Given the description of an element on the screen output the (x, y) to click on. 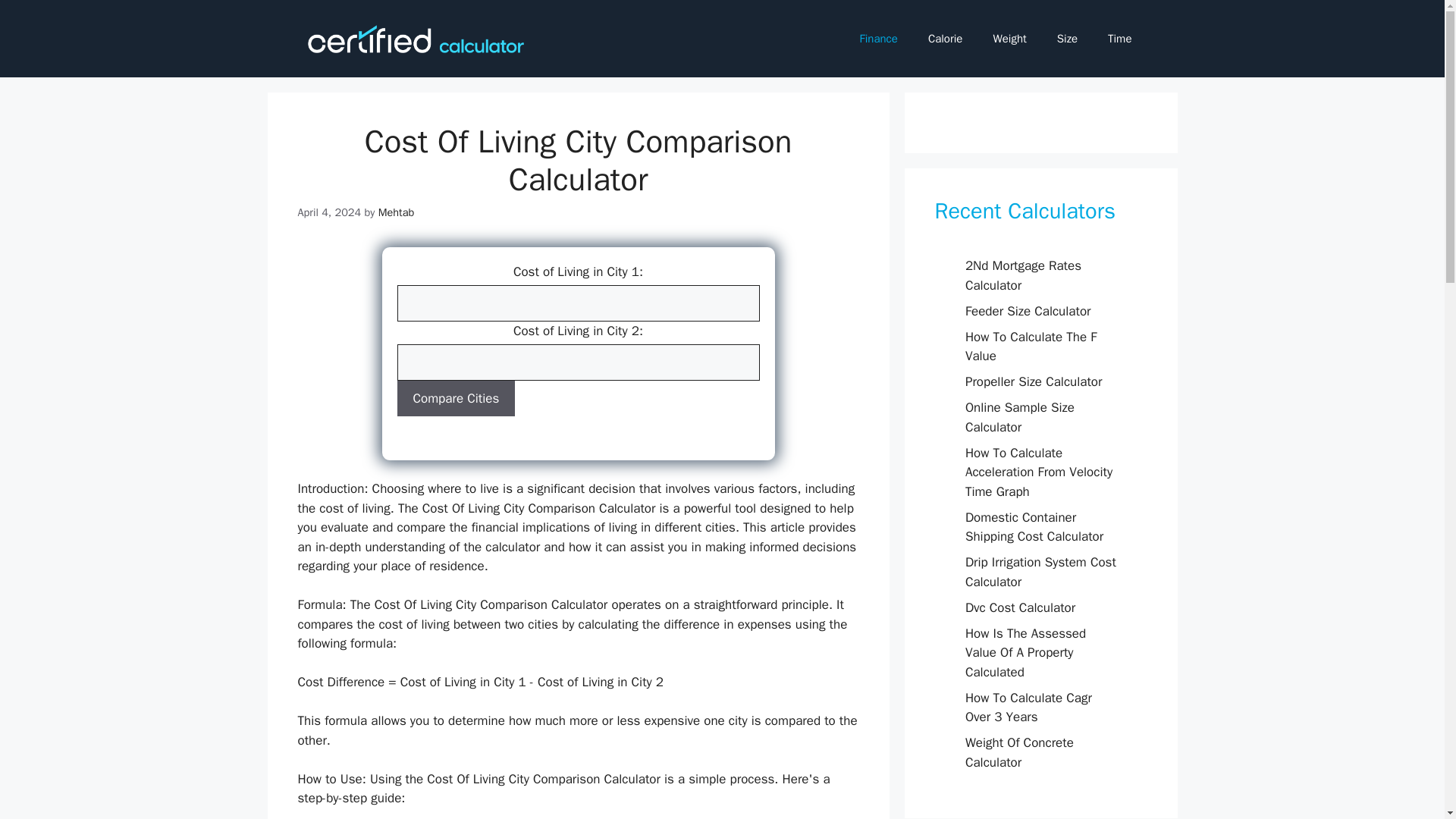
Finance (878, 38)
Feeder Size Calculator (1027, 311)
How Is The Assessed Value Of A Property Calculated (1025, 651)
Domestic Container Shipping Cost Calculator (1034, 527)
How To Calculate Cagr Over 3 Years (1028, 707)
Online Sample Size Calculator (1019, 416)
Drip Irrigation System Cost Calculator (1040, 571)
2Nd Mortgage Rates Calculator (1023, 275)
How To Calculate The F Value (1031, 346)
Size (1067, 38)
Propeller Size Calculator (1033, 381)
Dvc Cost Calculator (1020, 606)
Time (1120, 38)
View all posts by Mehtab (396, 212)
Compare Cities (456, 398)
